Given the description of an element on the screen output the (x, y) to click on. 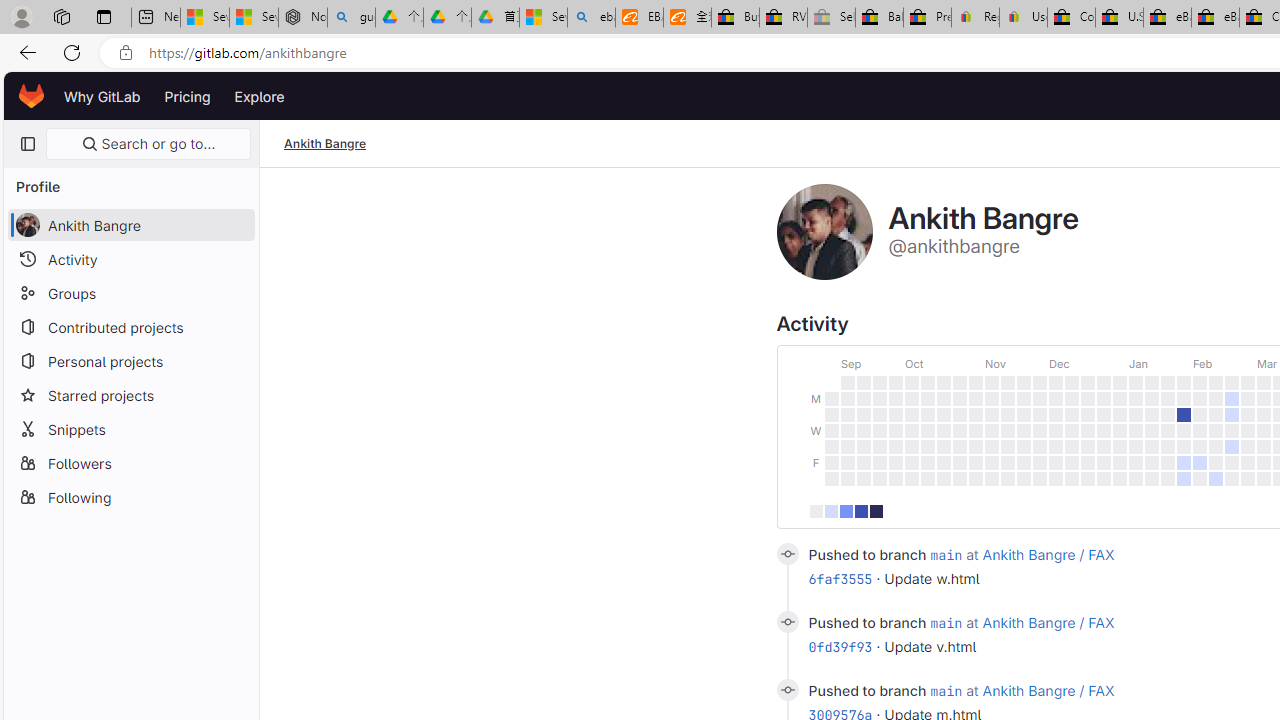
Groups (130, 292)
Press Room - eBay Inc. (927, 17)
